Given the description of an element on the screen output the (x, y) to click on. 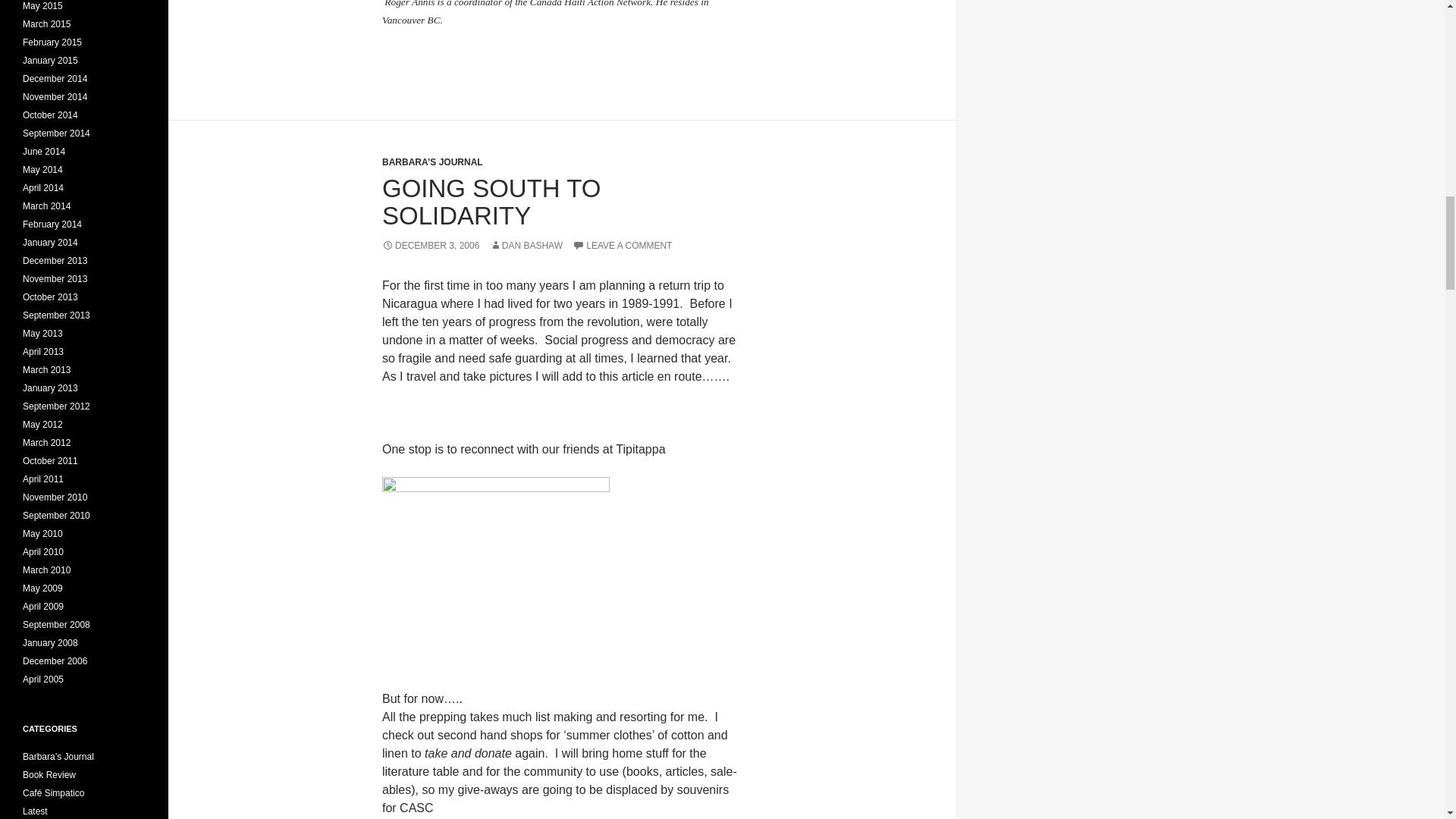
DECEMBER 3, 2006 (430, 245)
DAN BASHAW (525, 245)
GOING SOUTH TO SOLIDARITY (490, 202)
LEAVE A COMMENT (621, 245)
